Given the description of an element on the screen output the (x, y) to click on. 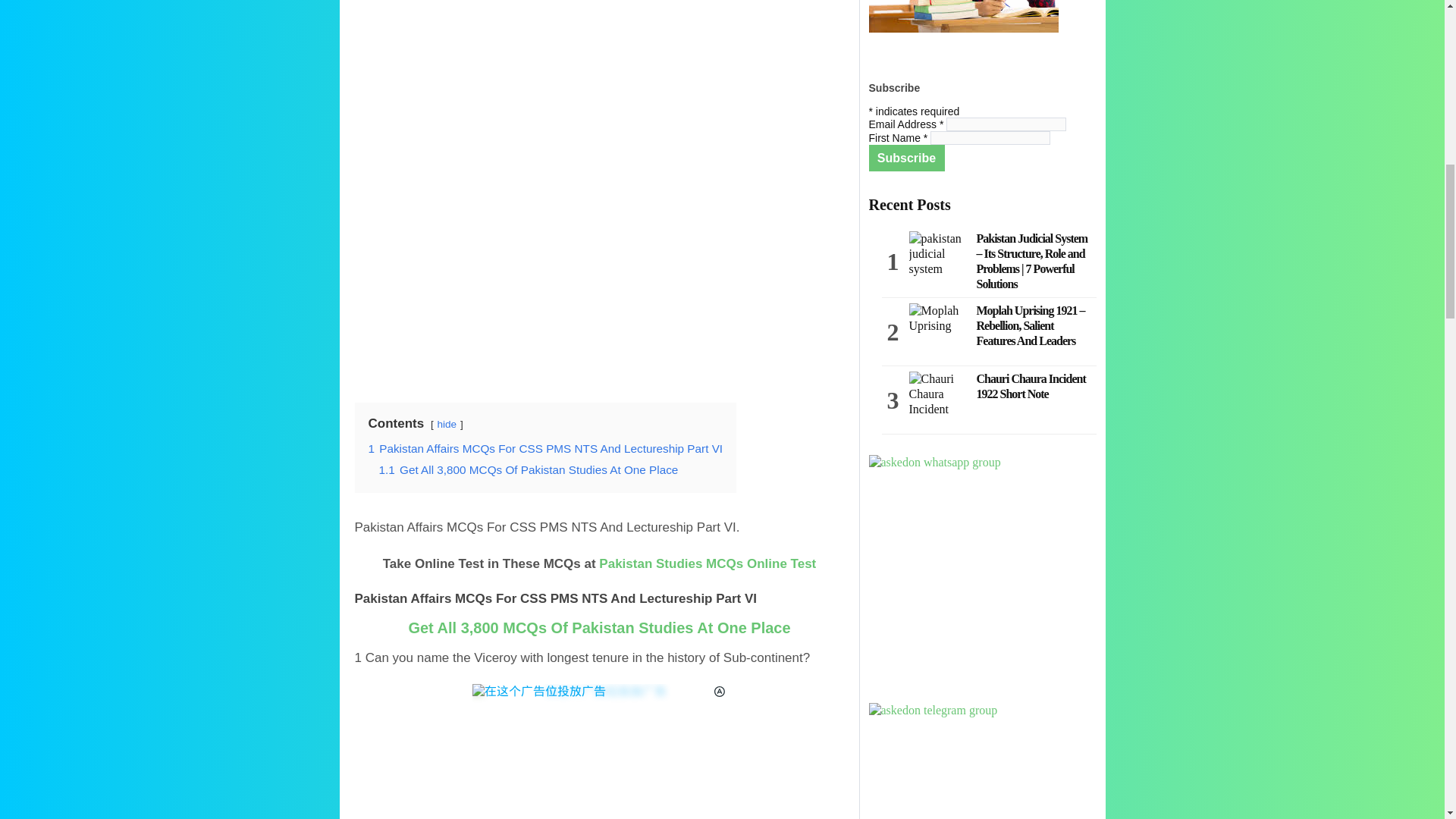
Advertisement (599, 272)
Subscribe (906, 157)
hide (446, 423)
Chauri Chaura Incident 1922 Short Note 4 (936, 399)
Advertisement (599, 79)
1.1 Get All 3,800 MCQs Of Pakistan Studies At One Place (528, 469)
